Given the description of an element on the screen output the (x, y) to click on. 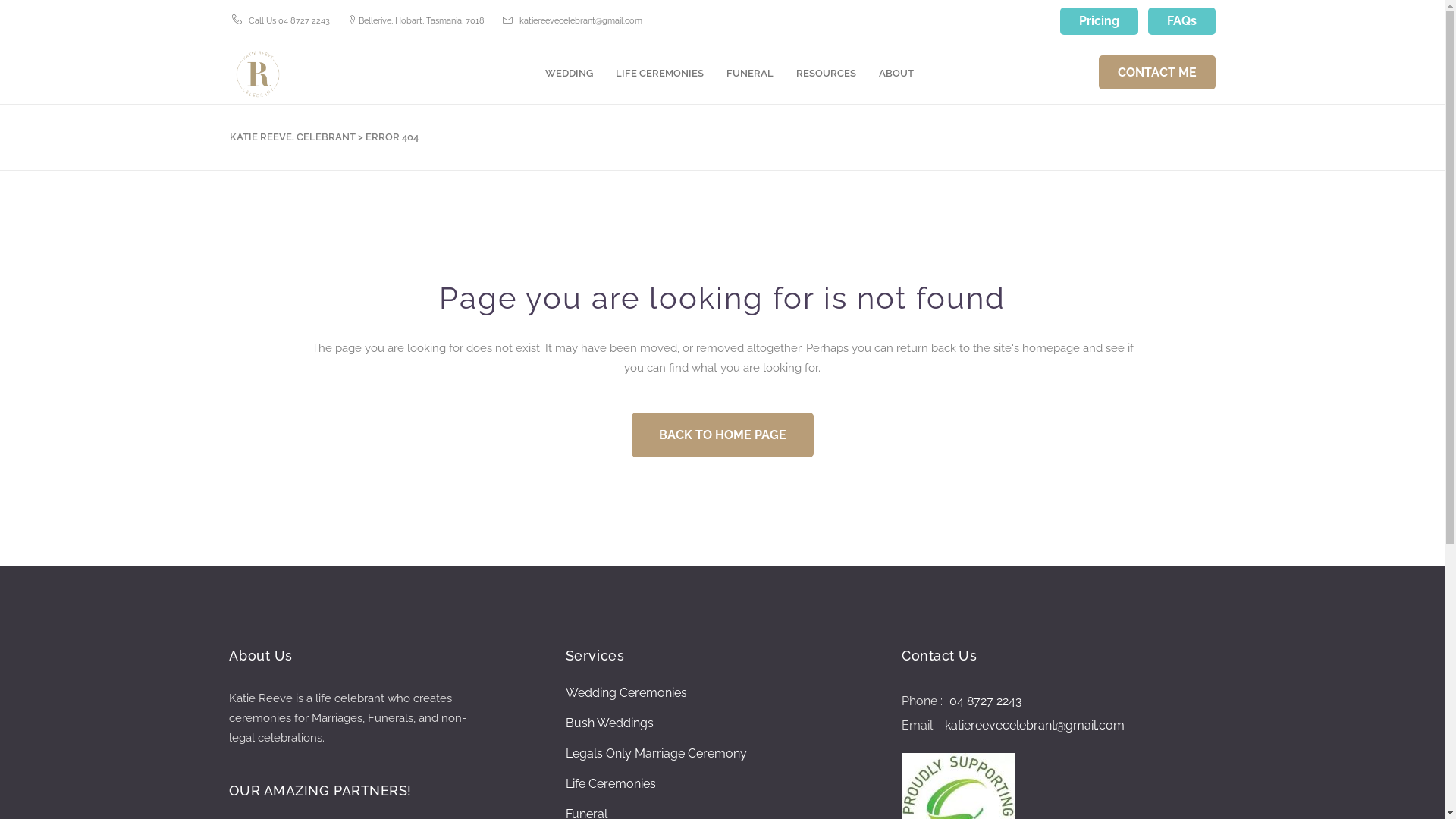
Bellerive, Hobart, Tasmania, 7018 Element type: text (420, 20)
KATIE REEVE, CELEBRANT Element type: text (291, 137)
katiereevecelebrant@gmail.com Element type: text (1032, 725)
04 8727 2243 Element type: text (983, 700)
CONTACT ME Element type: text (1156, 72)
Life Ceremonies Element type: text (610, 783)
ABOUT Element type: text (896, 72)
RESOURCES Element type: text (825, 72)
katiereevecelebrant@gmail.com Element type: text (579, 20)
Pricing Element type: text (1099, 20)
LIFE CEREMONIES Element type: text (659, 72)
Wedding Ceremonies Element type: text (626, 692)
Legals Only Marriage Ceremony Element type: text (655, 753)
Bush Weddings Element type: text (609, 723)
FUNERAL Element type: text (749, 72)
FAQs Element type: text (1181, 20)
Call Us 04 8727 2243 Element type: text (288, 20)
WEDDING Element type: text (568, 72)
BACK TO HOME PAGE Element type: text (721, 434)
